Given the description of an element on the screen output the (x, y) to click on. 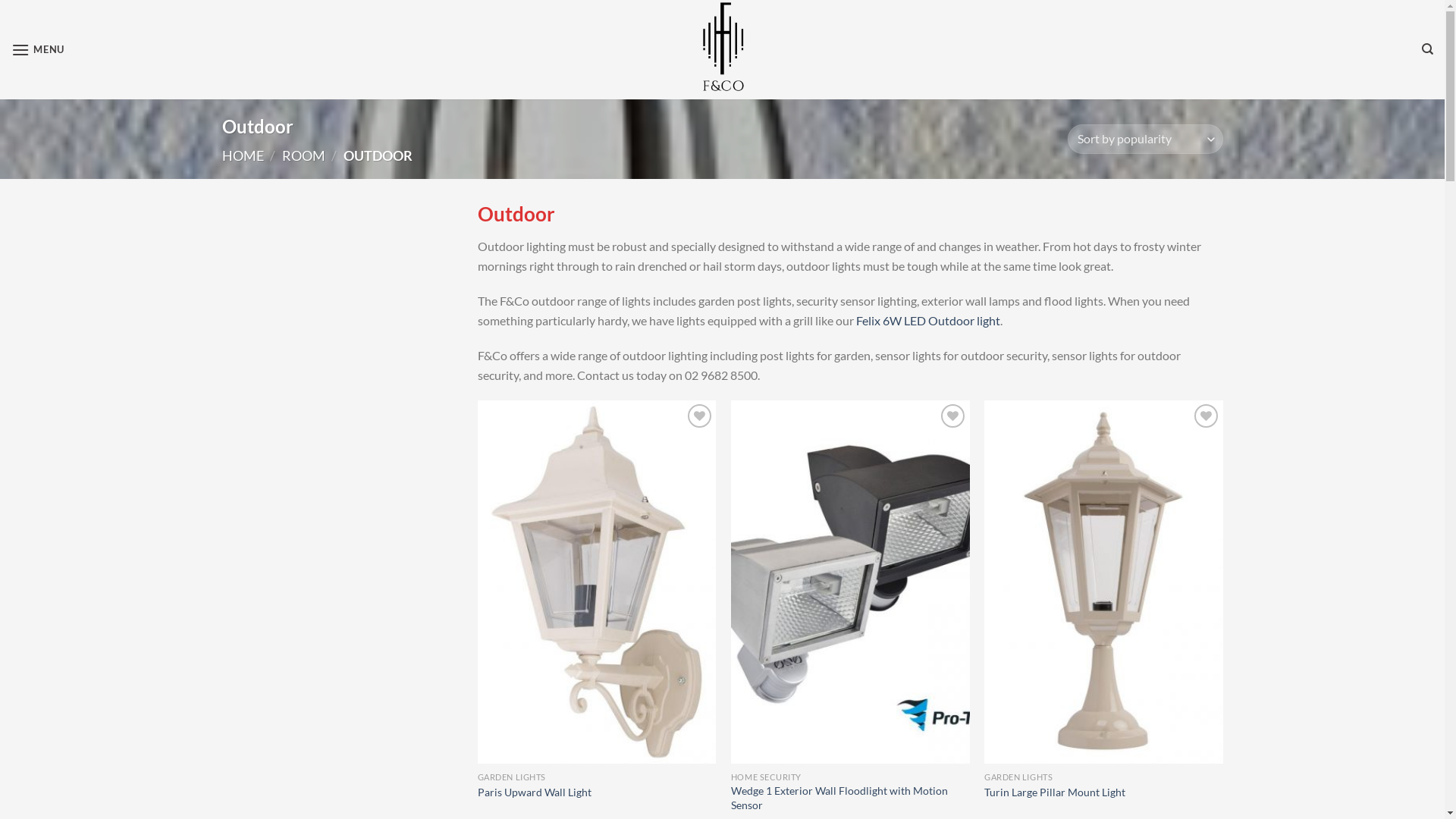
Turin Large Pillar Mount Light Element type: text (1054, 792)
Wedge 1 Exterior Wall Floodlight with Motion Sensor Element type: text (850, 798)
ROOM Element type: text (303, 155)
Felix 6W LED Outdoor light Element type: text (928, 320)
HOME Element type: text (242, 155)
Paris Upward Wall Light Element type: text (534, 792)
MENU Element type: text (37, 49)
